Given the description of an element on the screen output the (x, y) to click on. 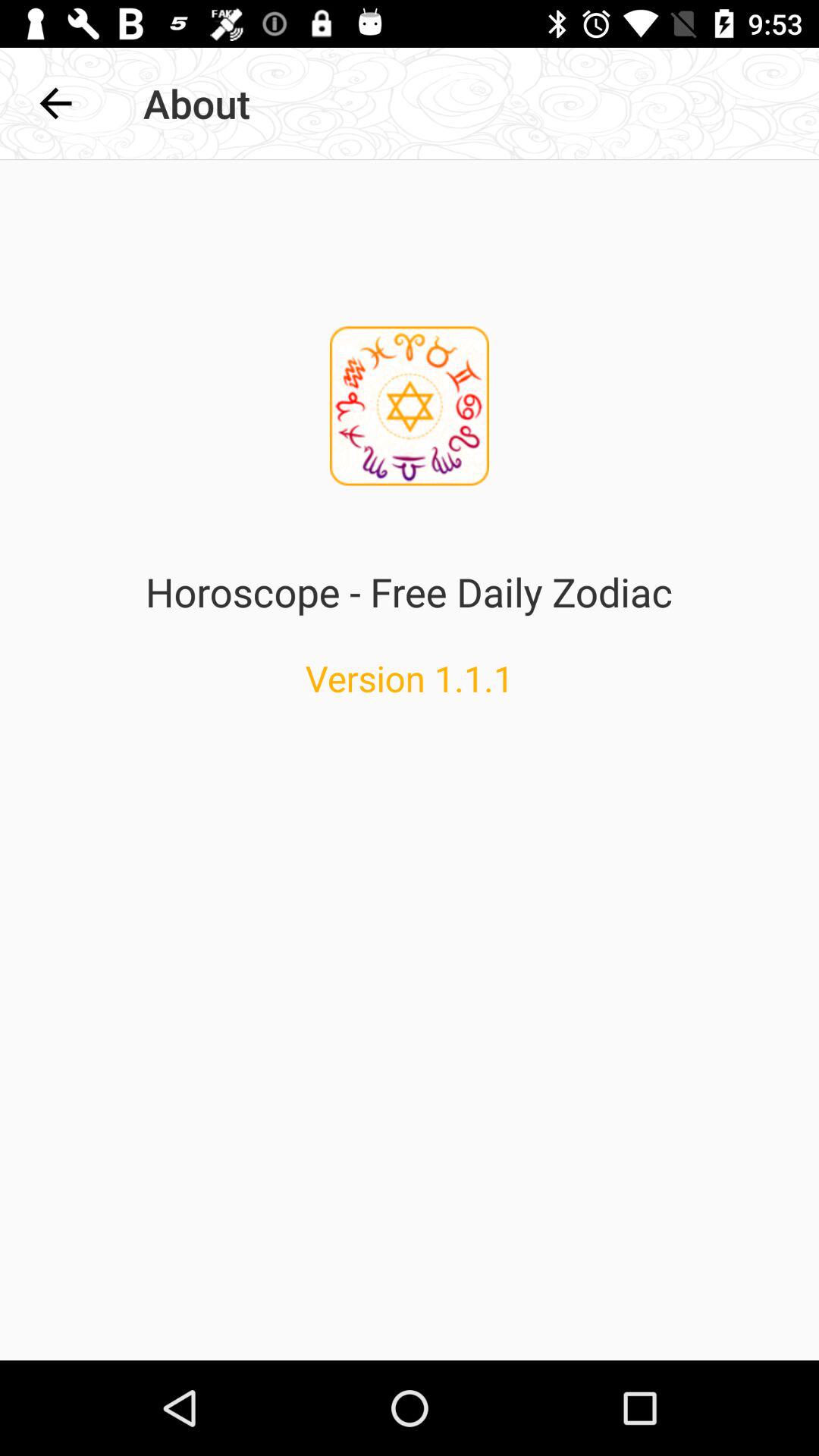
launch icon to the left of about (55, 103)
